Given the description of an element on the screen output the (x, y) to click on. 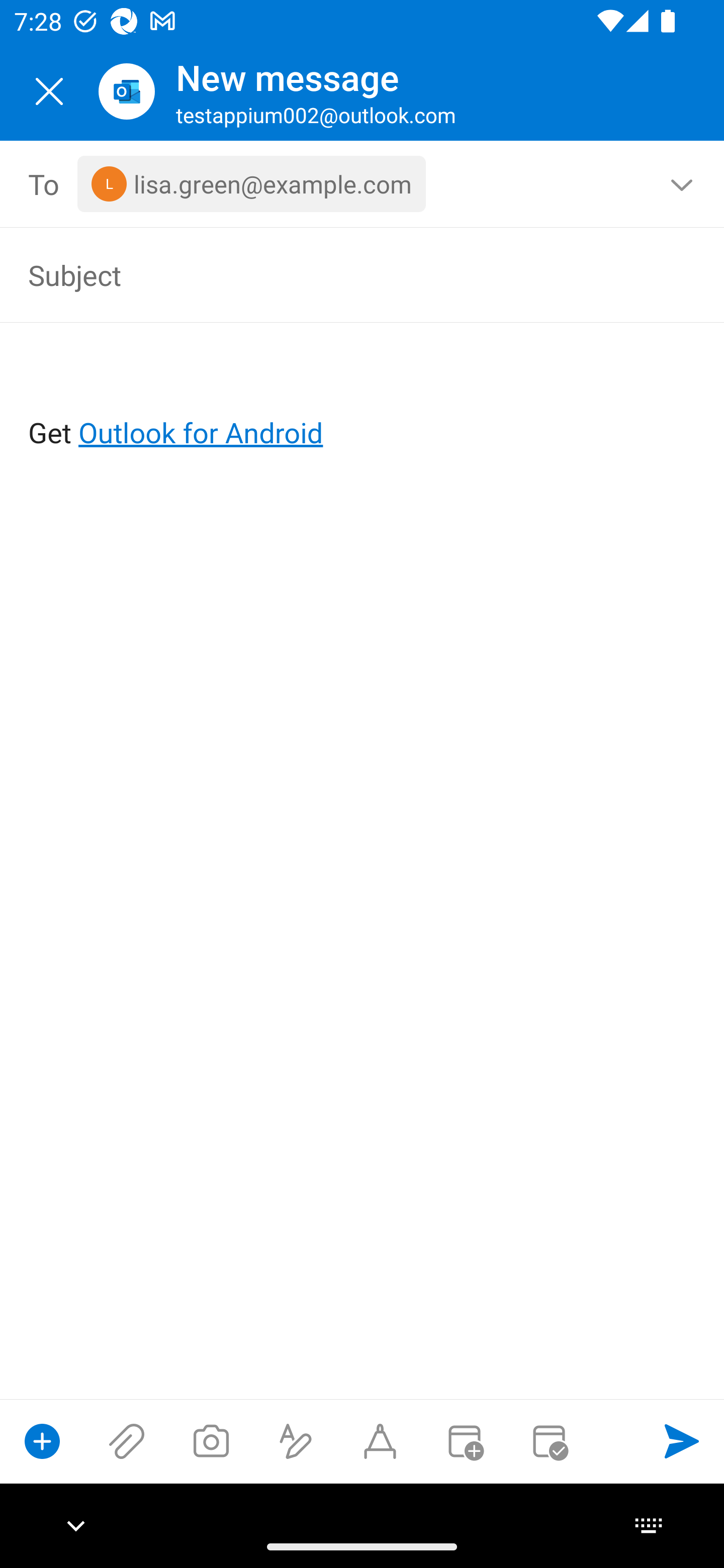
Close (49, 91)
To, 1 recipient <lisa.green@example.com> (362, 184)
Subject (333, 274)


Get Outlook for Android (363, 400)
Show compose options (42, 1440)
Attach files (126, 1440)
Take a photo (210, 1440)
Show formatting options (295, 1440)
Start Ink compose (380, 1440)
Convert to event (464, 1440)
Send availability (548, 1440)
Send (681, 1440)
